Given the description of an element on the screen output the (x, y) to click on. 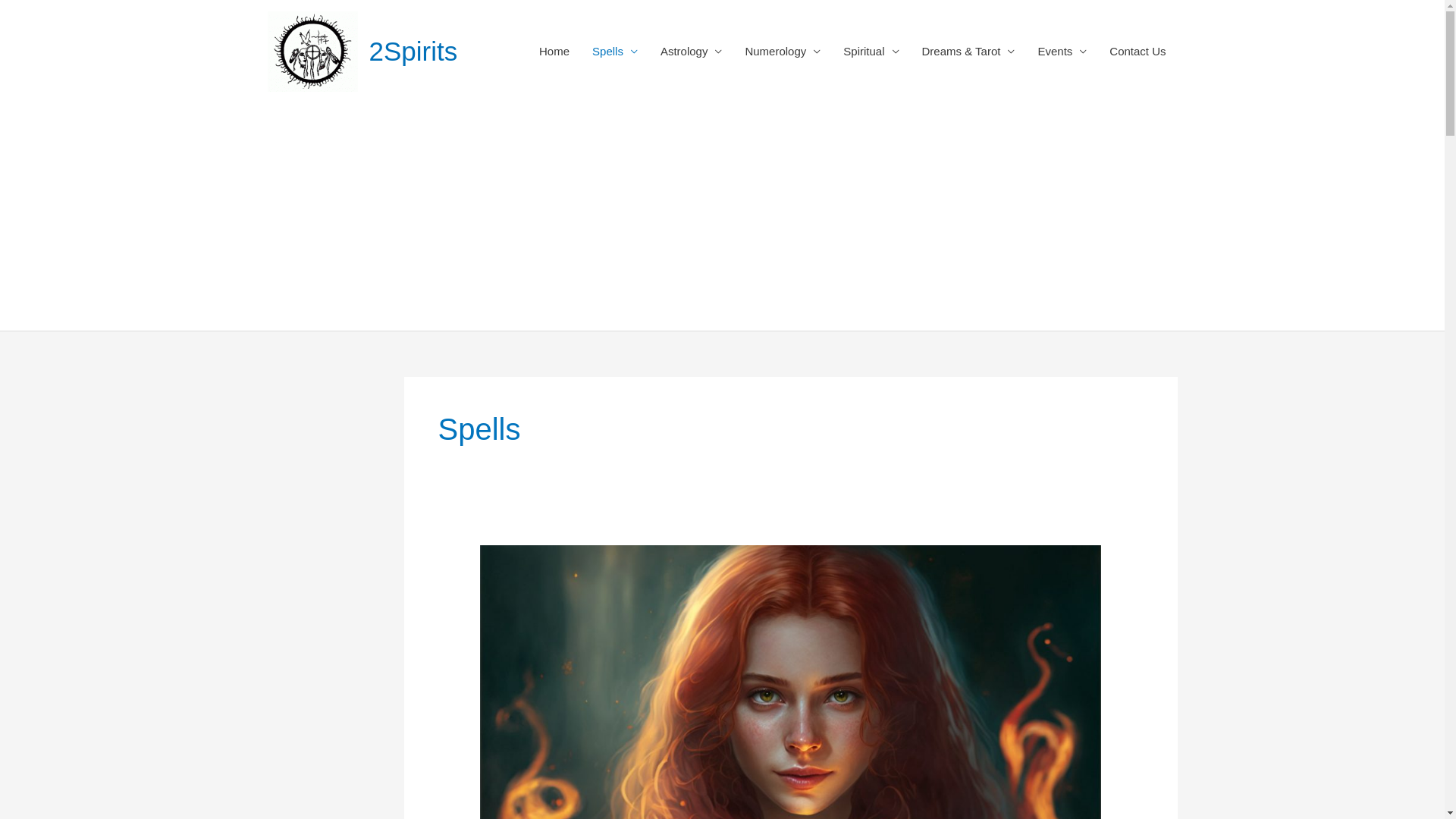
Spiritual Element type: text (870, 51)
Contact Us Element type: text (1137, 51)
Dreams & Tarot Element type: text (968, 51)
Home Element type: text (553, 51)
Astrology Element type: text (691, 51)
Spells Element type: text (614, 51)
Numerology Element type: text (782, 51)
Events Element type: text (1062, 51)
2Spirits Element type: text (412, 50)
Advertisement Element type: hover (721, 216)
